Given the description of an element on the screen output the (x, y) to click on. 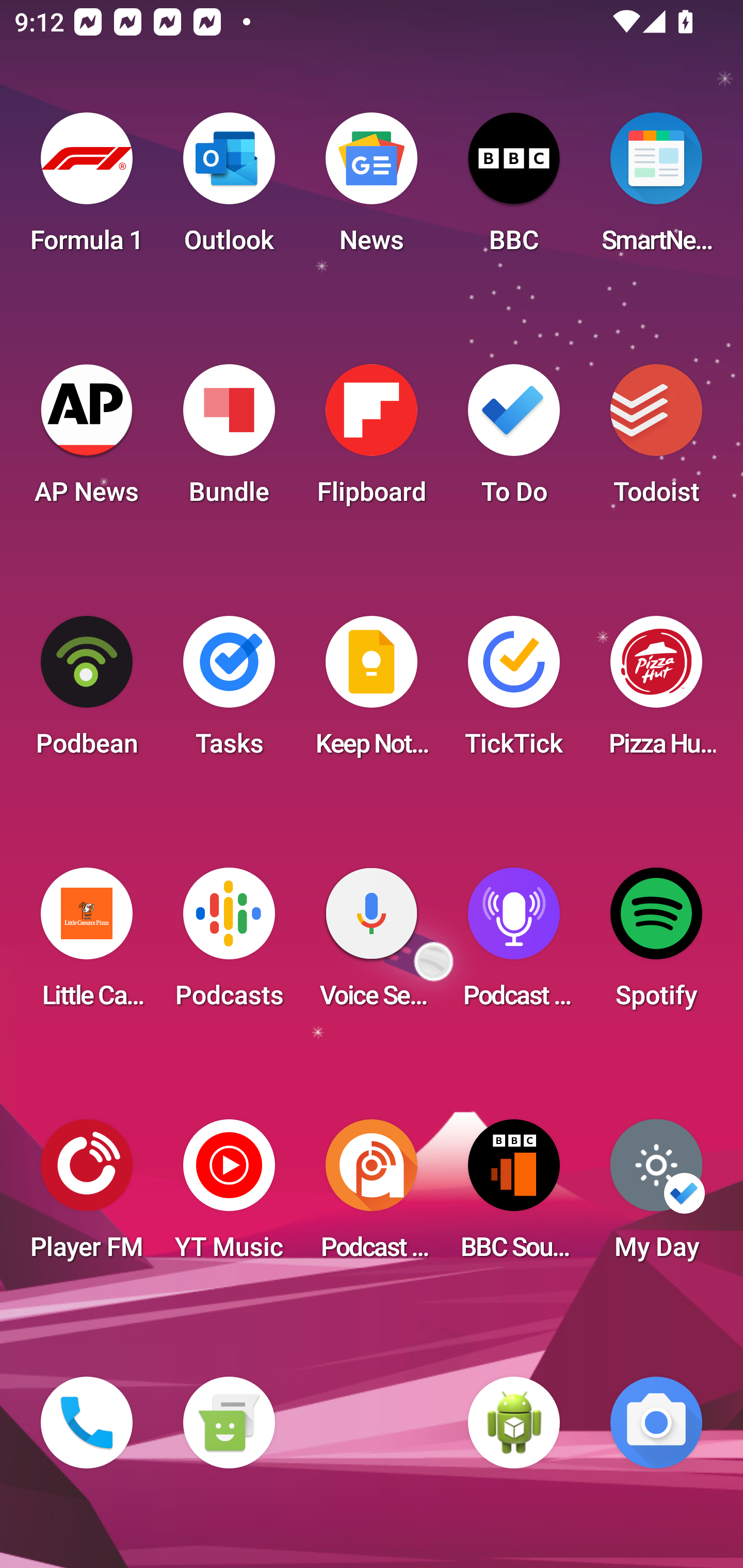
Formula 1 (86, 188)
Outlook (228, 188)
News (371, 188)
BBC (513, 188)
SmartNews (656, 188)
AP News (86, 440)
Bundle (228, 440)
Flipboard (371, 440)
To Do (513, 440)
Todoist (656, 440)
Podbean (86, 692)
Tasks (228, 692)
Keep Notes (371, 692)
TickTick (513, 692)
Pizza Hut HK & Macau (656, 692)
Little Caesars Pizza (86, 943)
Podcasts (228, 943)
Voice Search (371, 943)
Podcast Player (513, 943)
Spotify (656, 943)
Player FM (86, 1195)
YT Music (228, 1195)
Podcast Addict (371, 1195)
BBC Sounds (513, 1195)
My Day (656, 1195)
Phone (86, 1422)
Messaging (228, 1422)
WebView Browser Tester (513, 1422)
Camera (656, 1422)
